Given the description of an element on the screen output the (x, y) to click on. 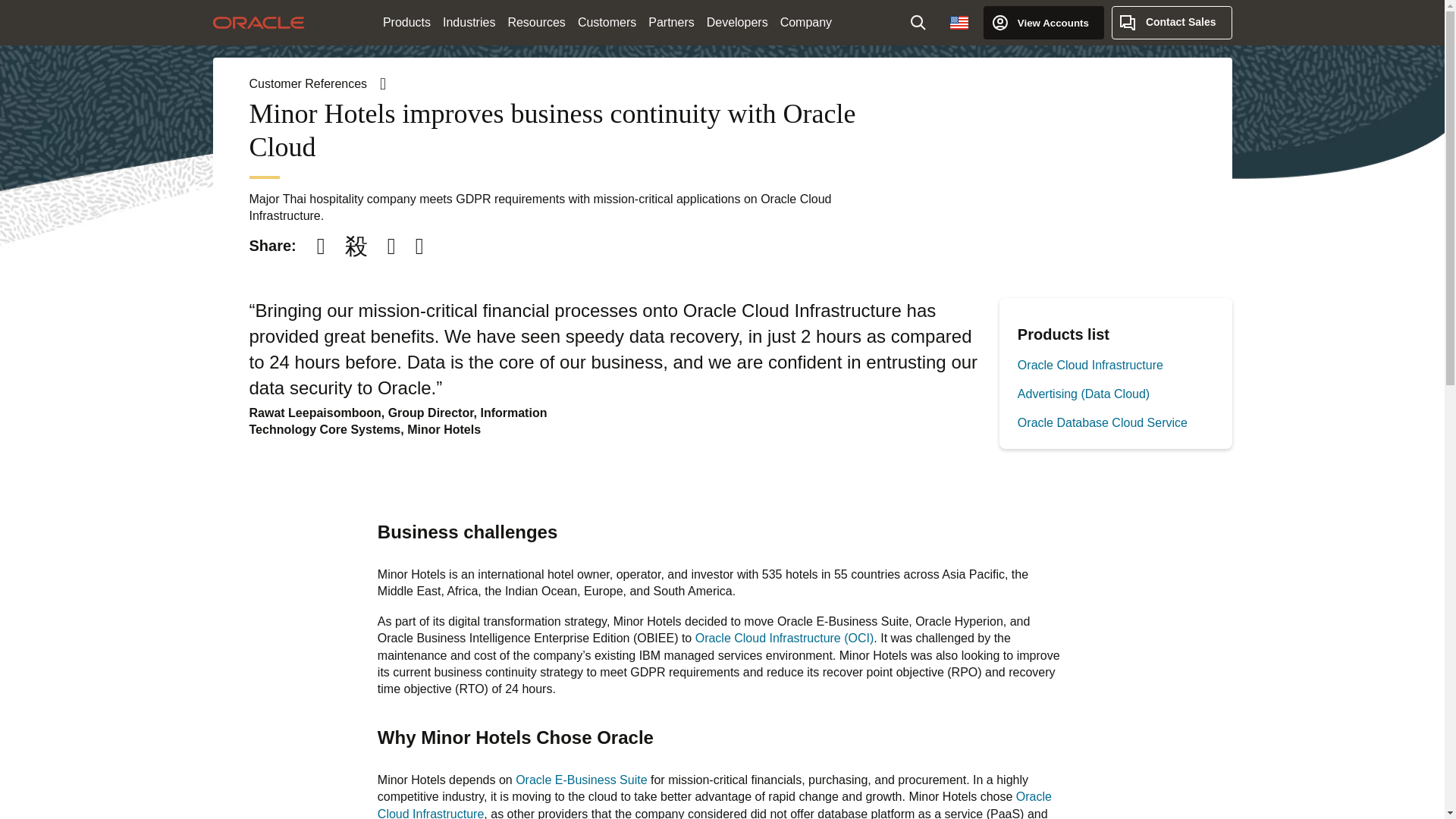
Share on Twitter (355, 246)
Developers (737, 22)
Industries (468, 22)
View Accounts (1043, 22)
Oracle Cloud Infrastructure (1090, 364)
Contact Sales (1171, 22)
Customer References (316, 83)
Products (406, 22)
Company (806, 22)
Partners (671, 22)
Contact Sales (1171, 22)
Customers (607, 22)
Resources (535, 22)
Country (958, 22)
